Given the description of an element on the screen output the (x, y) to click on. 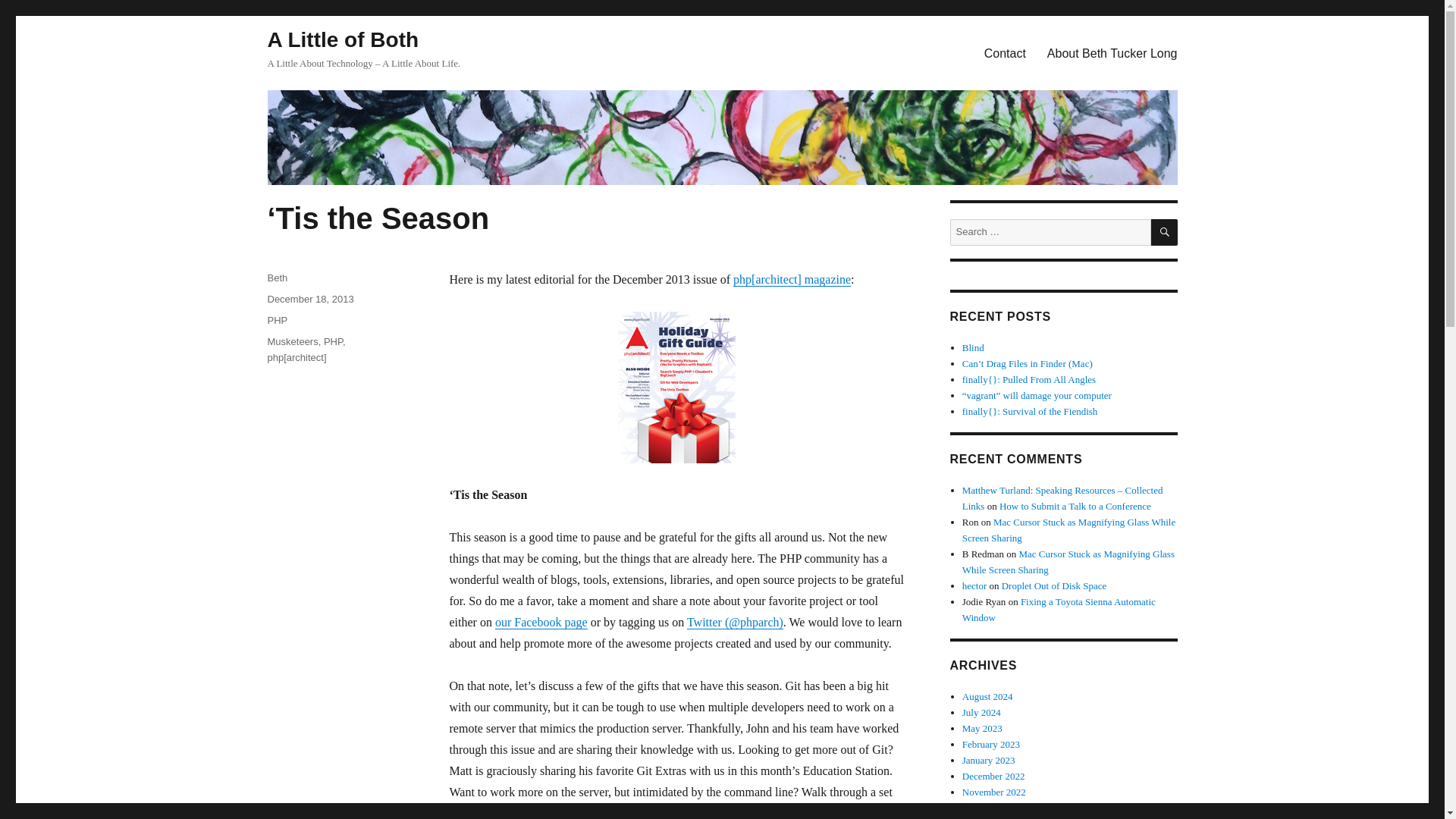
PHP (332, 341)
November 2022 (994, 791)
SEARCH (1164, 232)
PHP (276, 319)
How to Submit a Talk to a Conference (1074, 505)
Contact (1005, 52)
Beth (276, 277)
A Little of Both (342, 39)
January 2023 (988, 759)
December 18, 2013 (309, 298)
